Given the description of an element on the screen output the (x, y) to click on. 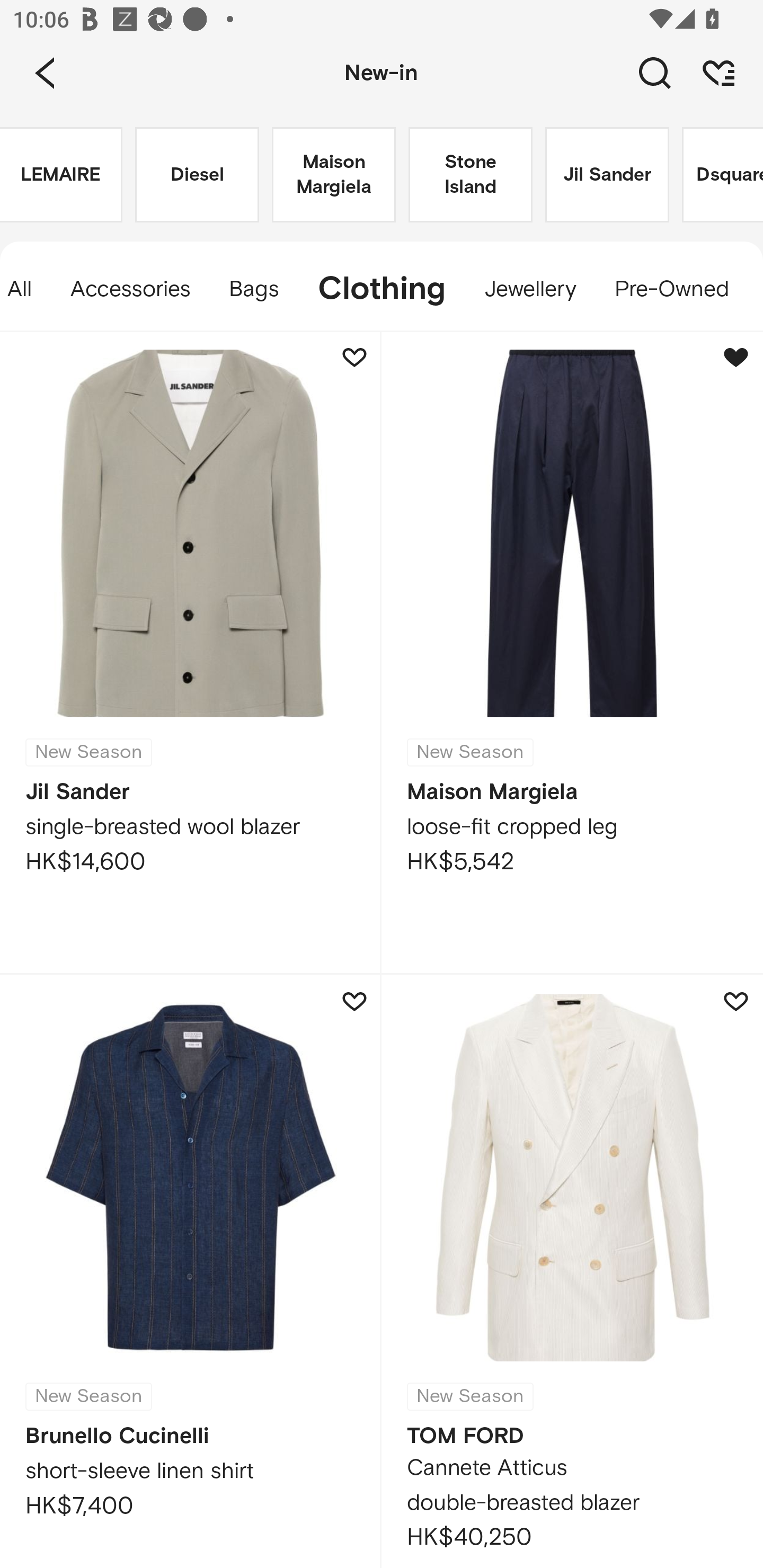
LEMAIRE (61, 174)
Diesel (197, 174)
Maison Margiela (333, 174)
Stone Island (470, 174)
Jil Sander (607, 174)
All (25, 289)
Accessories (130, 289)
Bags (253, 289)
Clothing (381, 289)
Jewellery (529, 289)
Pre-Owned (671, 289)
